Given the description of an element on the screen output the (x, y) to click on. 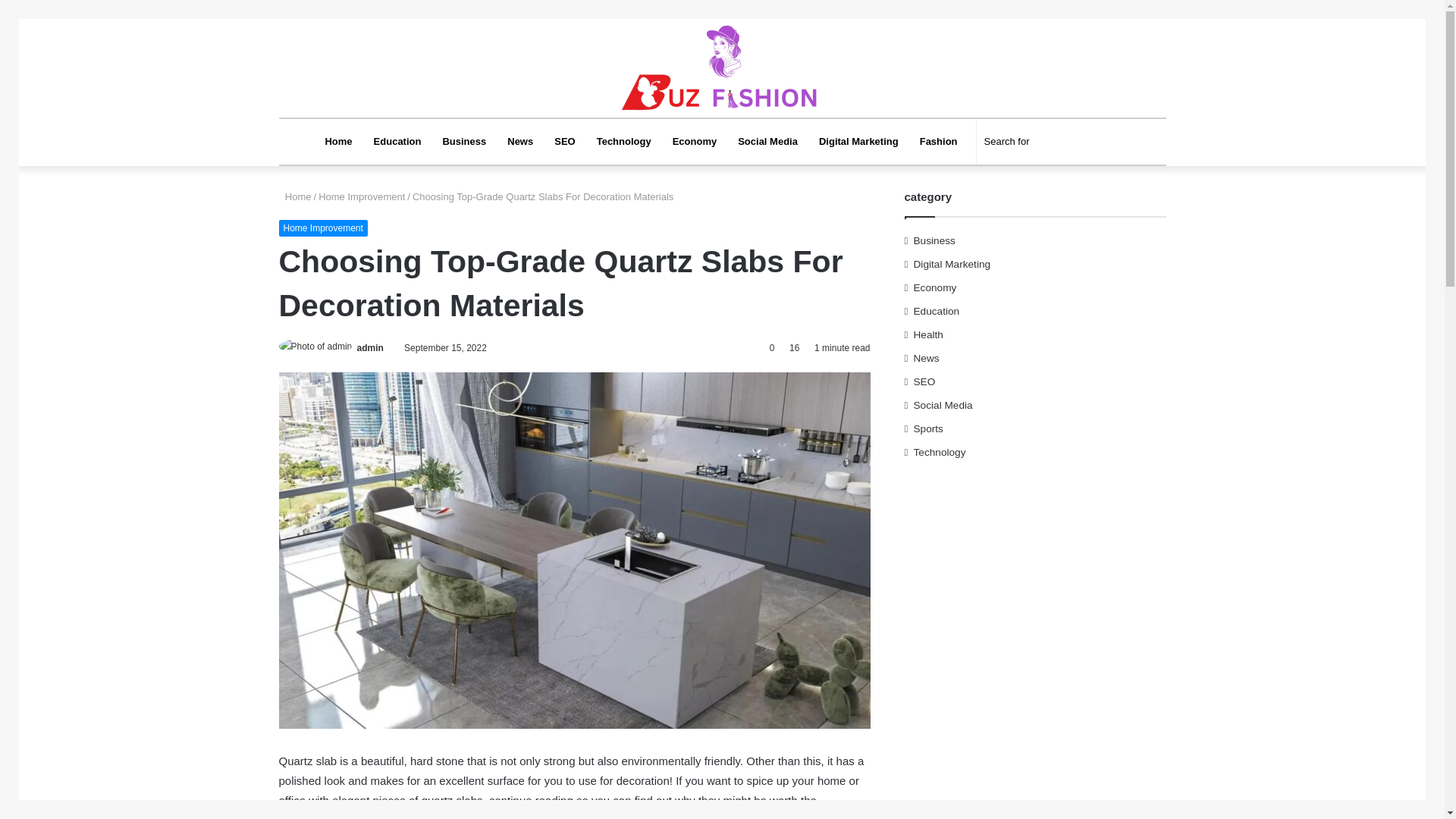
Home (295, 196)
Business (463, 141)
Home Improvement (361, 196)
Fashion (938, 141)
Home Improvement (323, 228)
admin (370, 347)
Economy (695, 141)
admin (370, 347)
Technology (624, 141)
My Blog (721, 68)
News (519, 141)
Social Media (767, 141)
Home (338, 141)
Education (397, 141)
Search for (1053, 141)
